Given the description of an element on the screen output the (x, y) to click on. 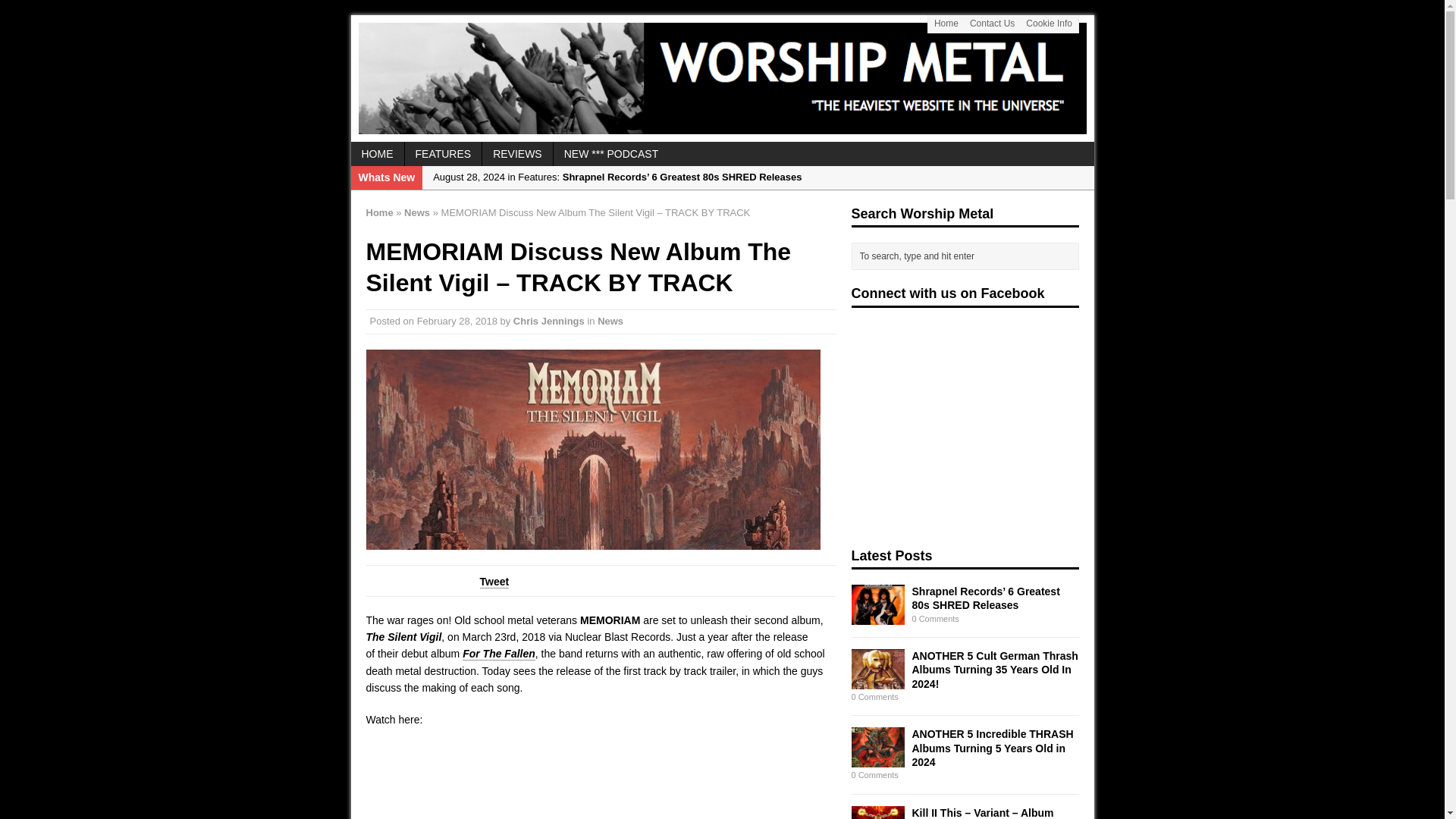
FEATURES (442, 153)
Chris Jennings (549, 320)
To search, type and hit enter (968, 256)
Contact Us (991, 23)
REVIEWS (517, 153)
News (416, 212)
News (609, 320)
HOME (376, 153)
Cookie Info (1049, 23)
Home (379, 212)
